Given the description of an element on the screen output the (x, y) to click on. 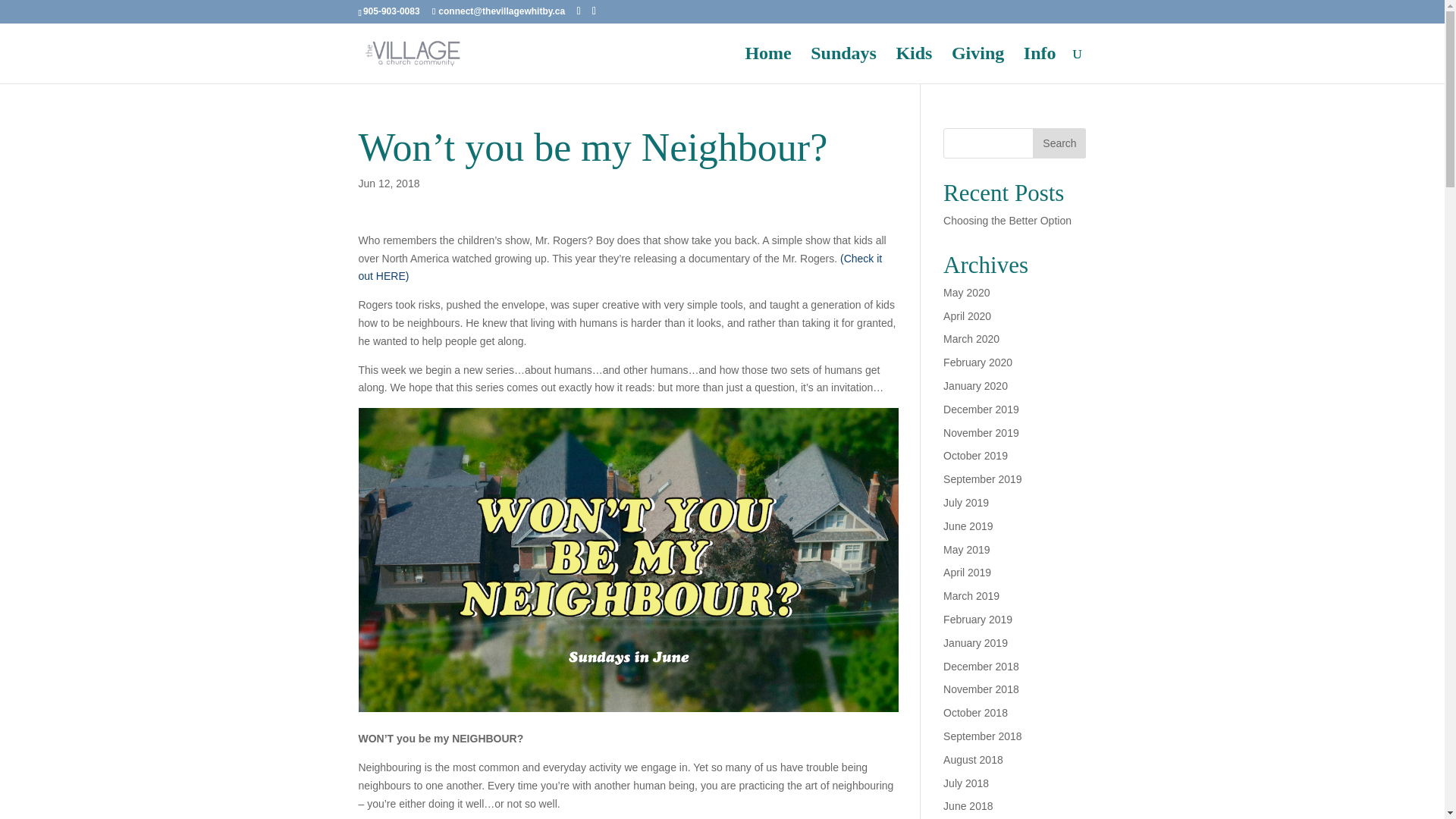
Home (767, 65)
Kids (913, 65)
December 2019 (981, 409)
January 2020 (975, 386)
Choosing the Better Option (1007, 220)
Search (1059, 142)
December 2018 (981, 666)
May 2019 (966, 549)
April 2020 (967, 316)
July 2019 (965, 502)
